Given the description of an element on the screen output the (x, y) to click on. 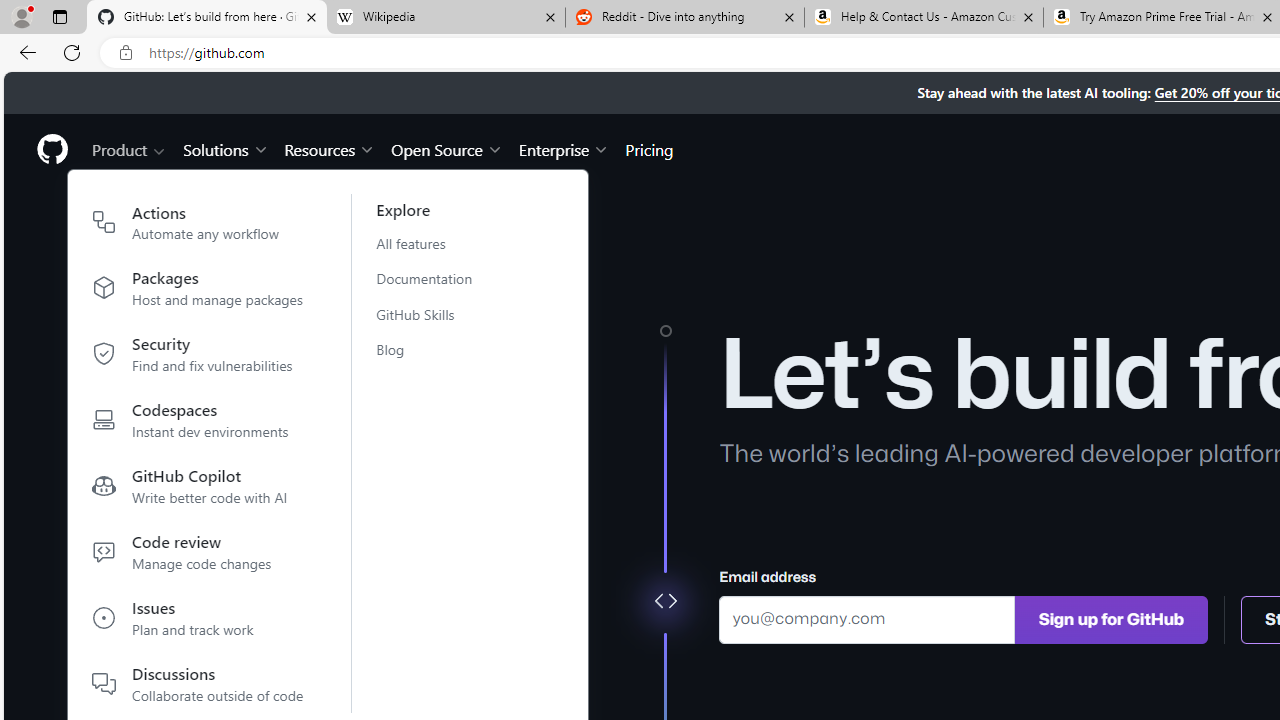
Documentation (436, 278)
Open Source (446, 148)
Blog (436, 349)
Code reviewManage code changes (198, 555)
DiscussionsCollaborate outside of code (198, 684)
Code review Manage code changes (198, 555)
Email address (867, 618)
ActionsAutomate any workflow (198, 225)
Actions Automate any workflow (198, 225)
Homepage (51, 149)
GitHub Skills (436, 313)
Packages Host and manage packages (198, 292)
All features (436, 243)
